Given the description of an element on the screen output the (x, y) to click on. 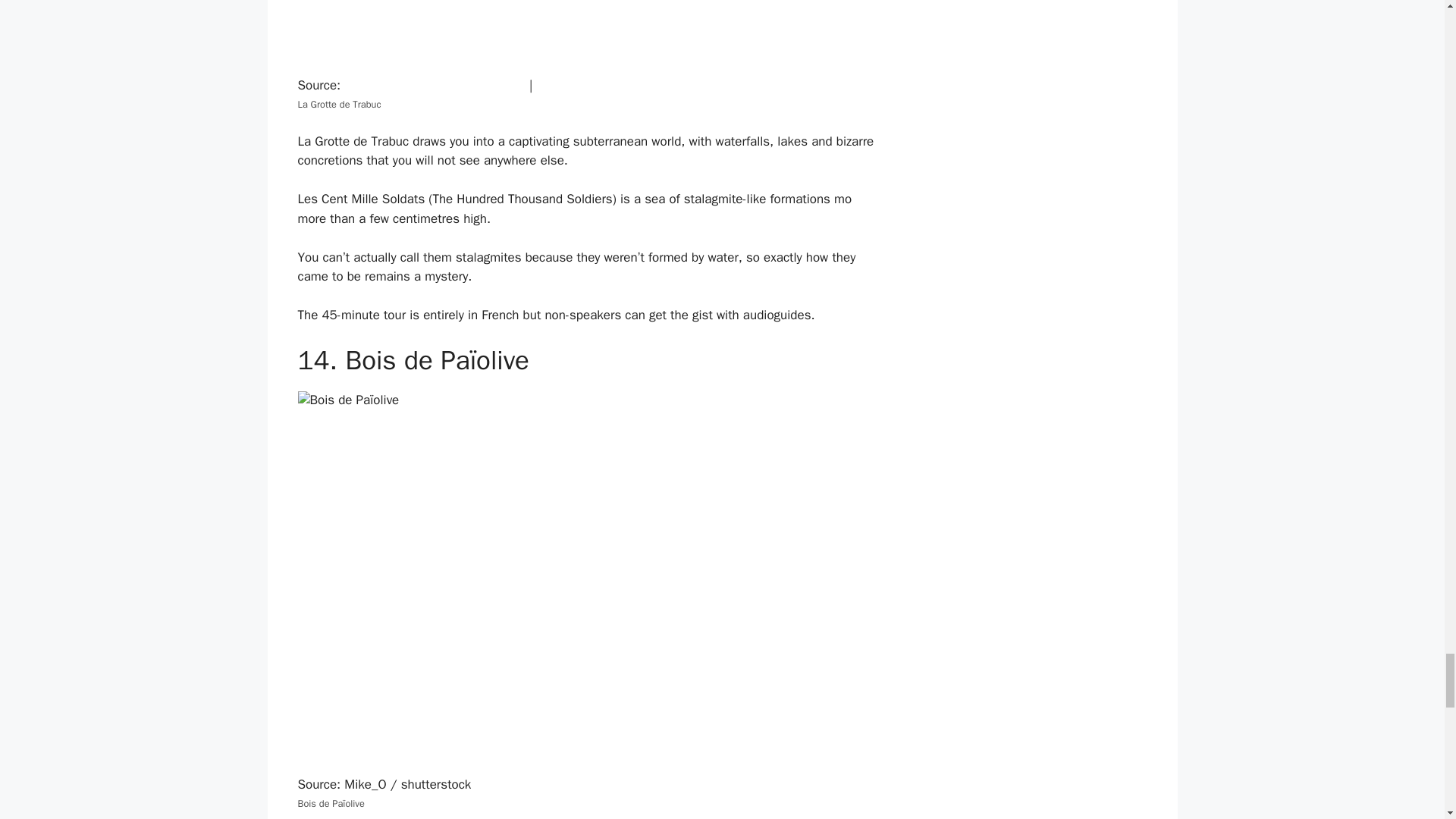
CC BY-SA 3.0 (575, 84)
